Given the description of an element on the screen output the (x, y) to click on. 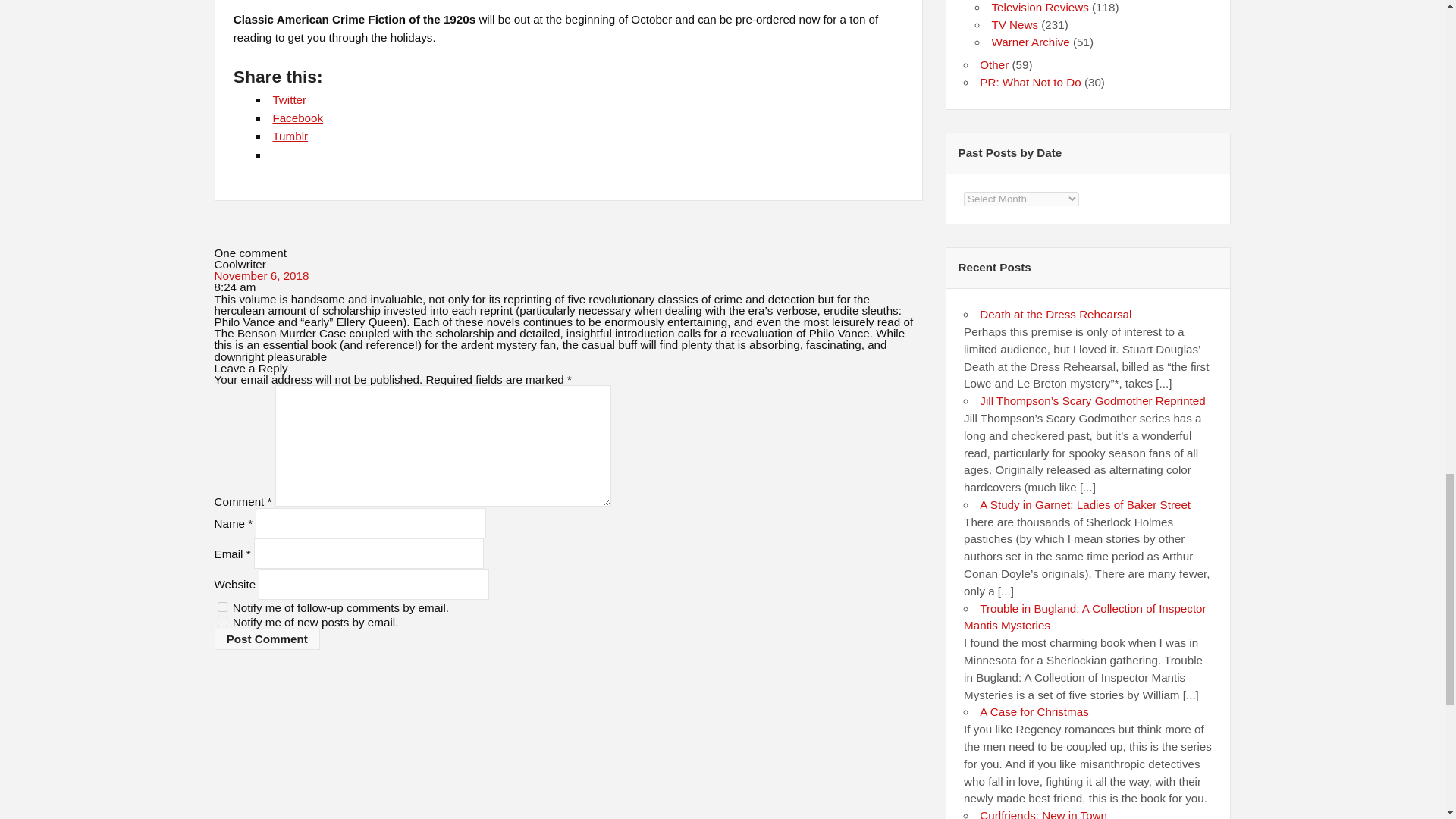
Click to share on Facebook (297, 117)
subscribe (221, 621)
Click to share on Twitter (288, 99)
Post Comment (267, 639)
Facebook (297, 117)
November 6, 2018 (261, 275)
Tumblr (289, 135)
subscribe (221, 606)
Click to share on Tumblr (289, 135)
Post Comment (267, 639)
